Given the description of an element on the screen output the (x, y) to click on. 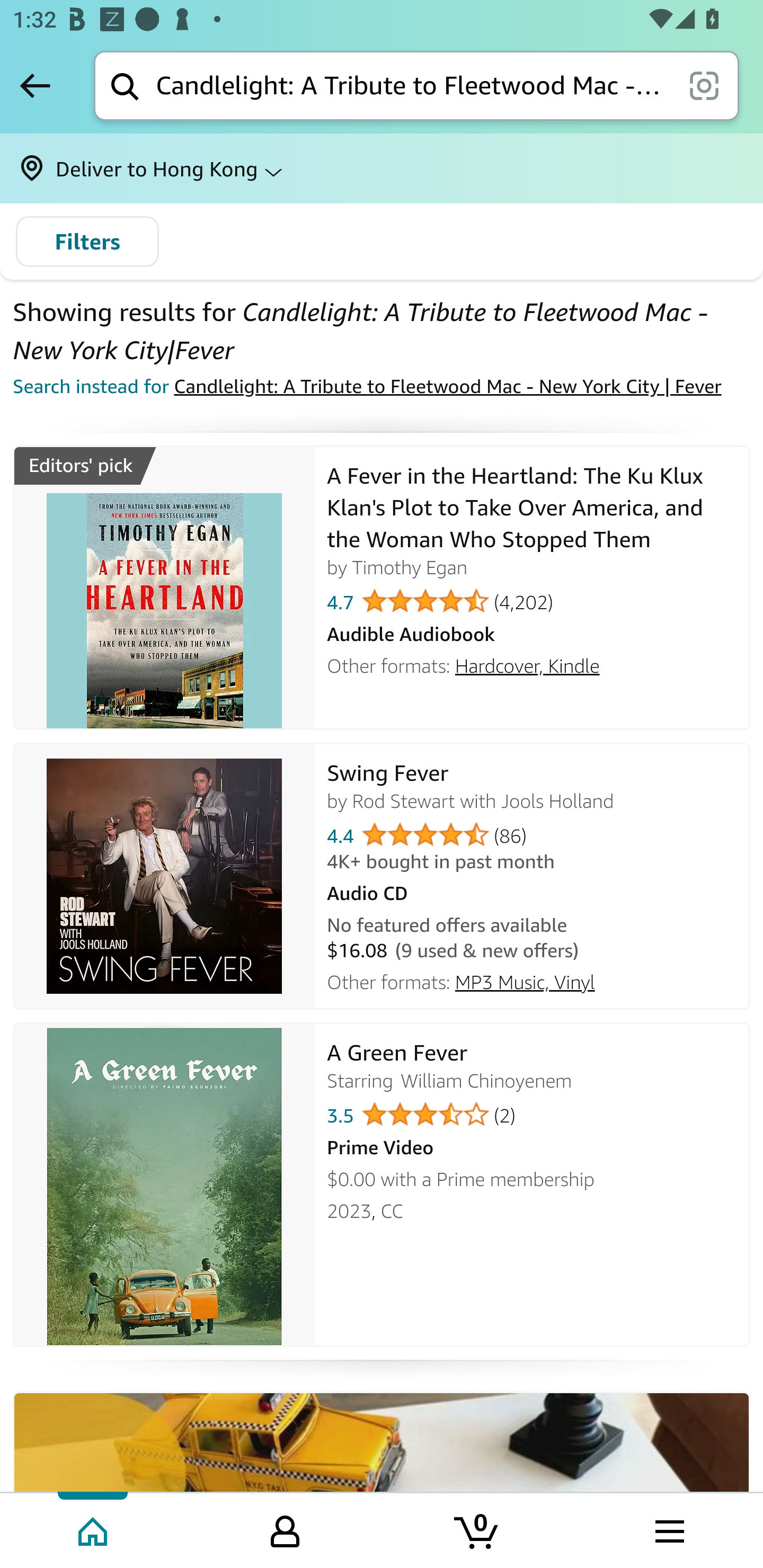
Back (35, 85)
scan it (704, 85)
Deliver to Hong Kong ⌵ (381, 168)
Filters (87, 241)
Swing Fever (164, 876)
A Green Fever (164, 1184)
Home Tab 1 of 4 (94, 1529)
Your Amazon.com Tab 2 of 4 (285, 1529)
Cart 0 item Tab 3 of 4 0 (477, 1529)
Browse menu Tab 4 of 4 (668, 1529)
